Given the description of an element on the screen output the (x, y) to click on. 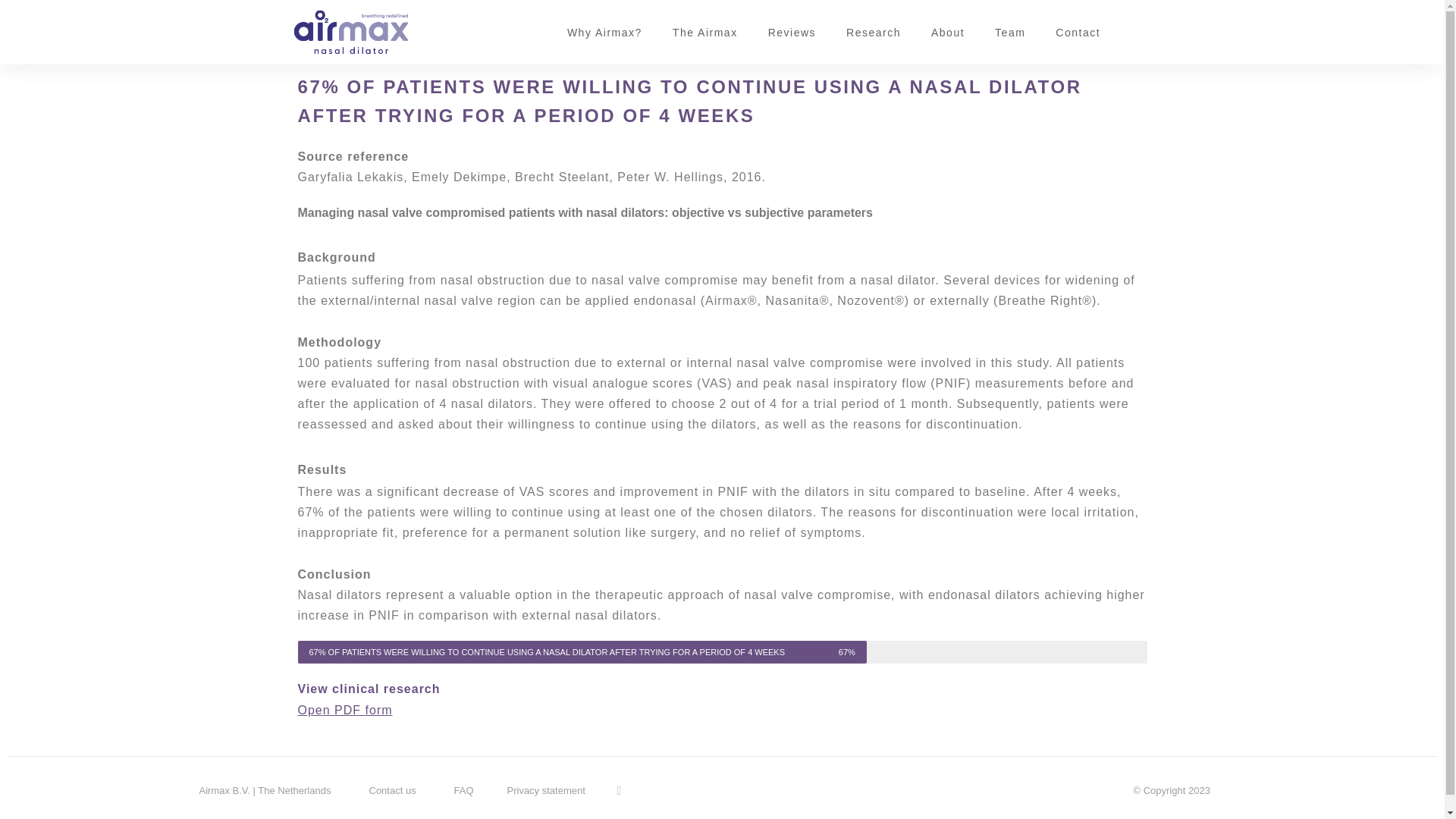
FAQ (462, 790)
Reviews (791, 32)
cropped-Airmax-logo-website.png (349, 31)
The Airmax (705, 32)
Research (873, 32)
Open PDF form (344, 709)
Contact us (391, 790)
Why Airmax? (604, 32)
About (947, 32)
Privacy statement (545, 790)
Team (1010, 32)
Contact (1078, 32)
